Given the description of an element on the screen output the (x, y) to click on. 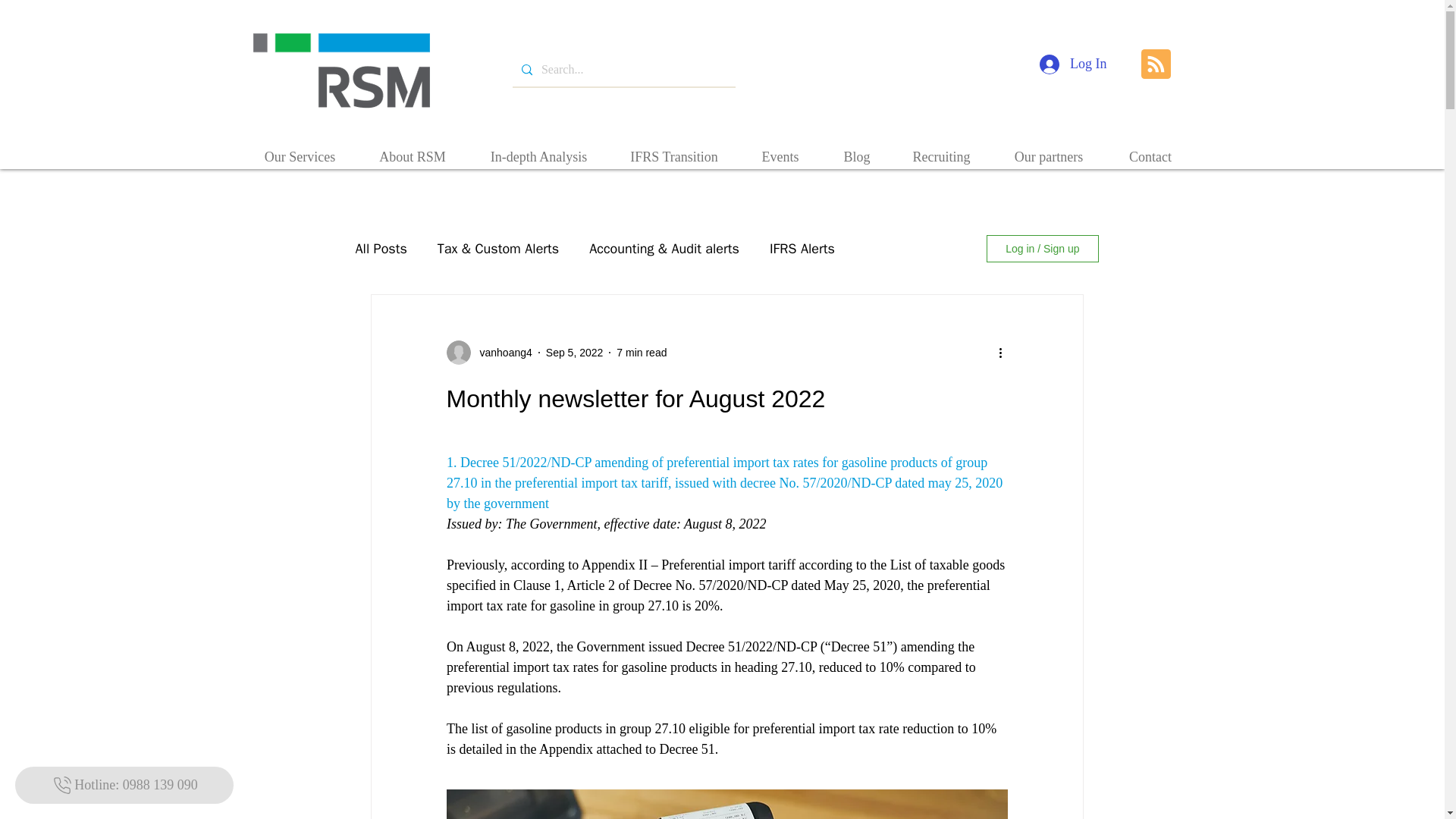
Events (780, 149)
7 min read (640, 351)
vanhoang4 (500, 351)
Log In (1073, 63)
Sep 5, 2022 (575, 351)
Recruiting (941, 149)
IFRS Transition (674, 149)
Blog (856, 149)
